Given the description of an element on the screen output the (x, y) to click on. 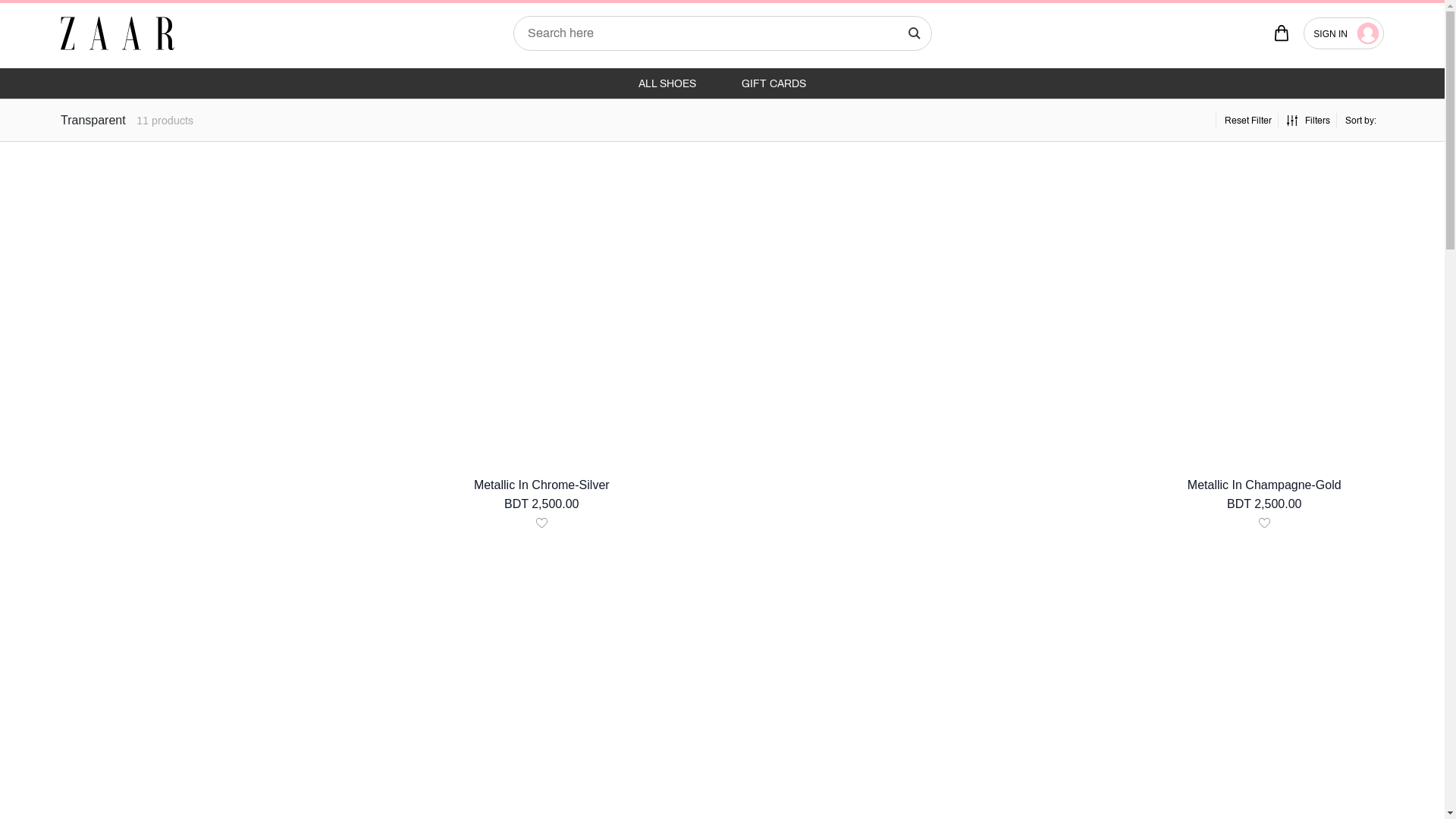
Metallic In Champagne-Gold
BDT 2,500.00 Element type: text (1263, 342)
Filters Element type: text (1308, 120)
Reset Filter Element type: text (1248, 120)
ALL SHOES Element type: text (667, 83)
GIFT CARDS Element type: text (773, 83)
SIGN IN Element type: text (1343, 33)
Metallic In Chrome-Silver
BDT 2,500.00 Element type: text (541, 342)
Sort by: Element type: text (1360, 120)
